Given the description of an element on the screen output the (x, y) to click on. 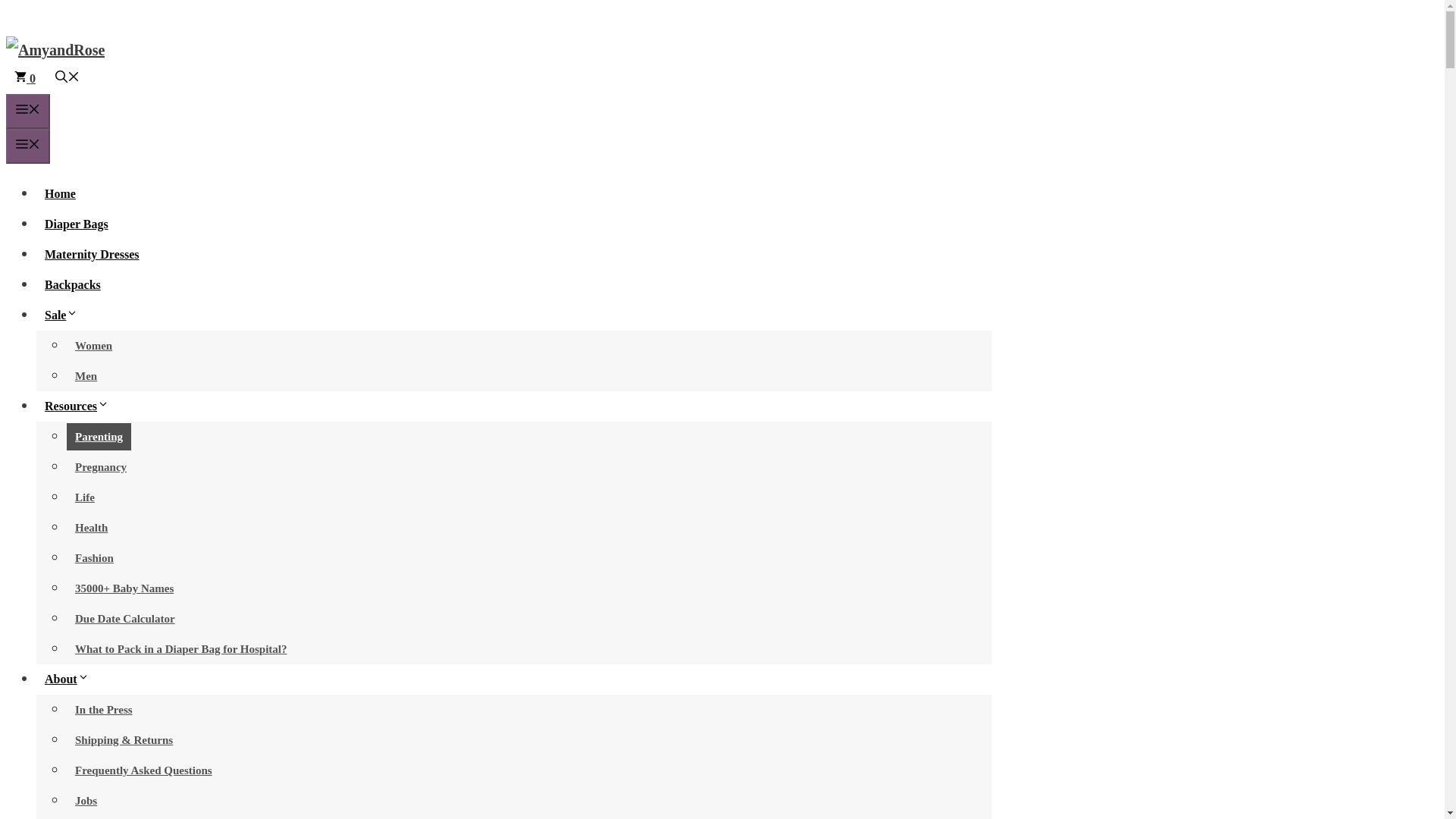
Women (93, 345)
Fashion (94, 557)
Contact (94, 818)
Home (60, 193)
Menu (27, 111)
Men (85, 375)
What to Pack in a Diaper Bag for Hospital? (180, 648)
Parenting (98, 436)
Diaper Bags (76, 223)
In the Press (103, 709)
0 (24, 78)
Pregnancy (100, 466)
Sale (65, 314)
Backpacks (72, 284)
